Given the description of an element on the screen output the (x, y) to click on. 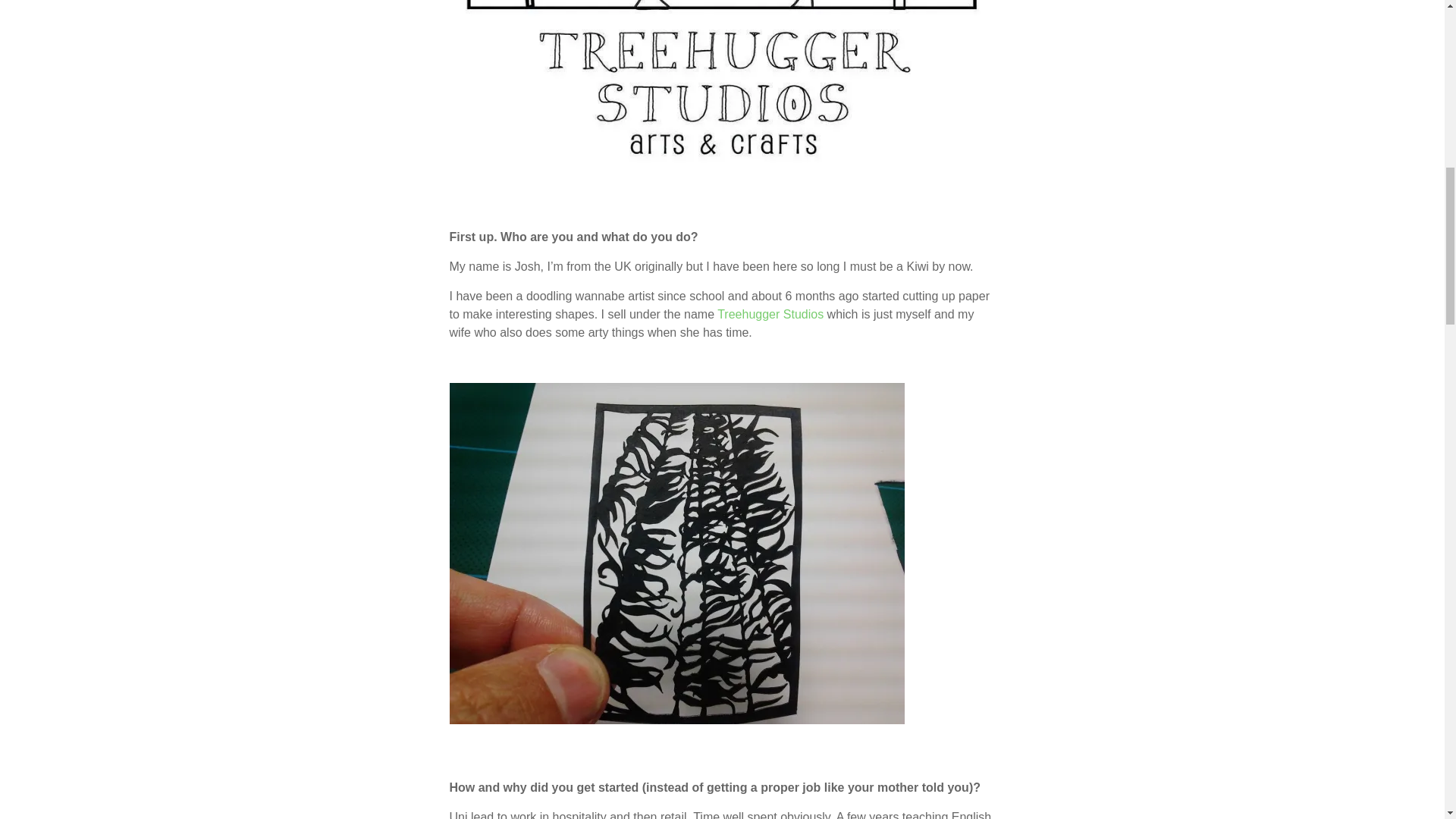
Treehugger Studios on Facebook (770, 314)
Treehugger Studios (770, 314)
